Given the description of an element on the screen output the (x, y) to click on. 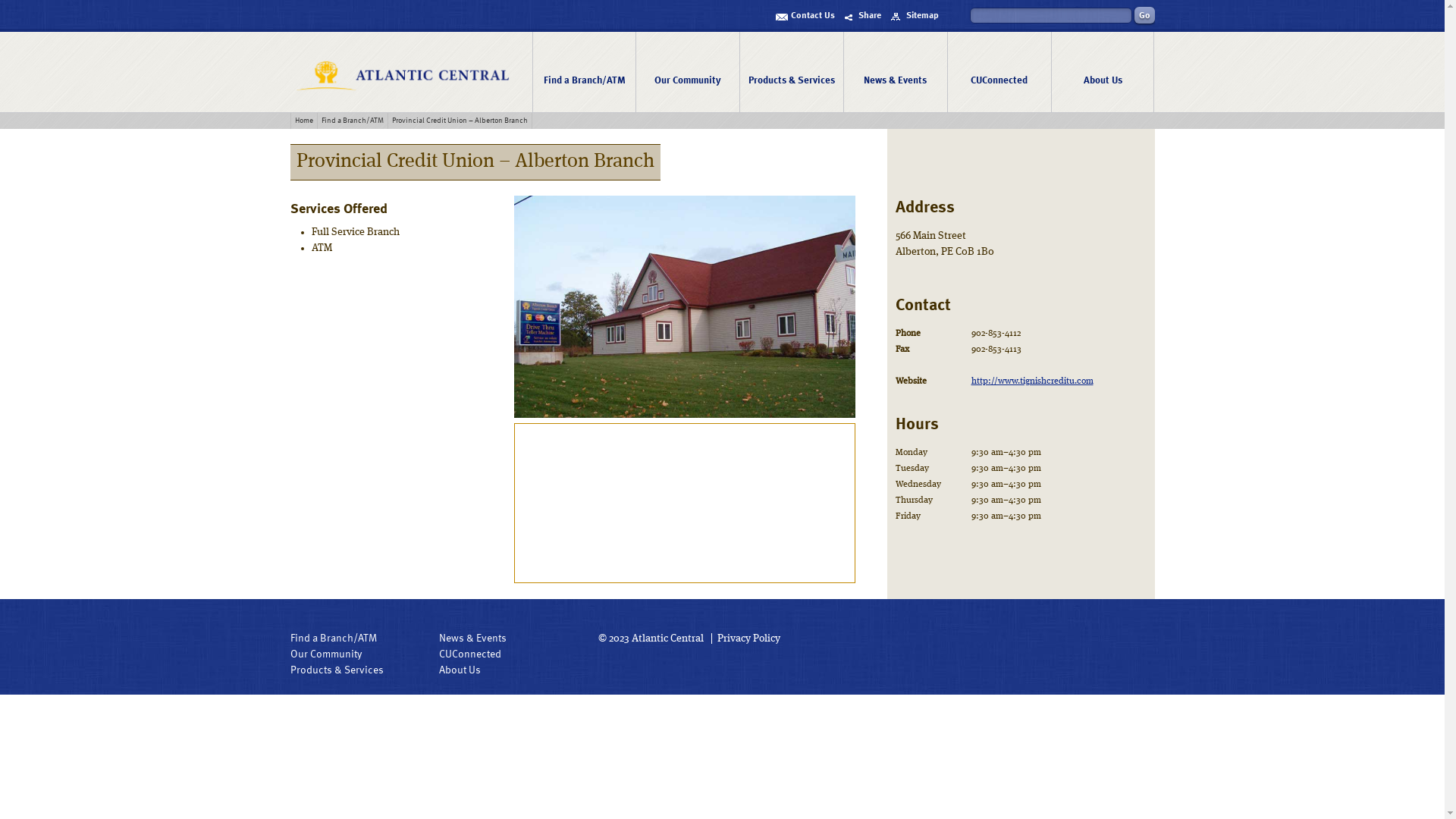
Home Element type: text (304, 120)
Go Element type: text (1144, 14)
CUConnected Element type: text (470, 654)
Our Community Element type: text (687, 71)
http://www.tignishcreditu.com Element type: text (1032, 380)
About Us Element type: text (1102, 71)
Contact Us Element type: text (804, 15)
Sitemap Element type: text (914, 15)
Our Community Element type: text (324, 654)
News & Events Element type: text (472, 638)
Find a Branch/ATM Element type: text (332, 638)
Products & Services Element type: text (335, 670)
Products & Services Element type: text (791, 71)
Find a Branch/ATM Element type: text (584, 71)
Find a Branch/ATM Element type: text (351, 120)
Privacy Policy Element type: text (745, 638)
About Us Element type: text (459, 670)
CUConnected Element type: text (999, 71)
News & Events Element type: text (895, 71)
